Given the description of an element on the screen output the (x, y) to click on. 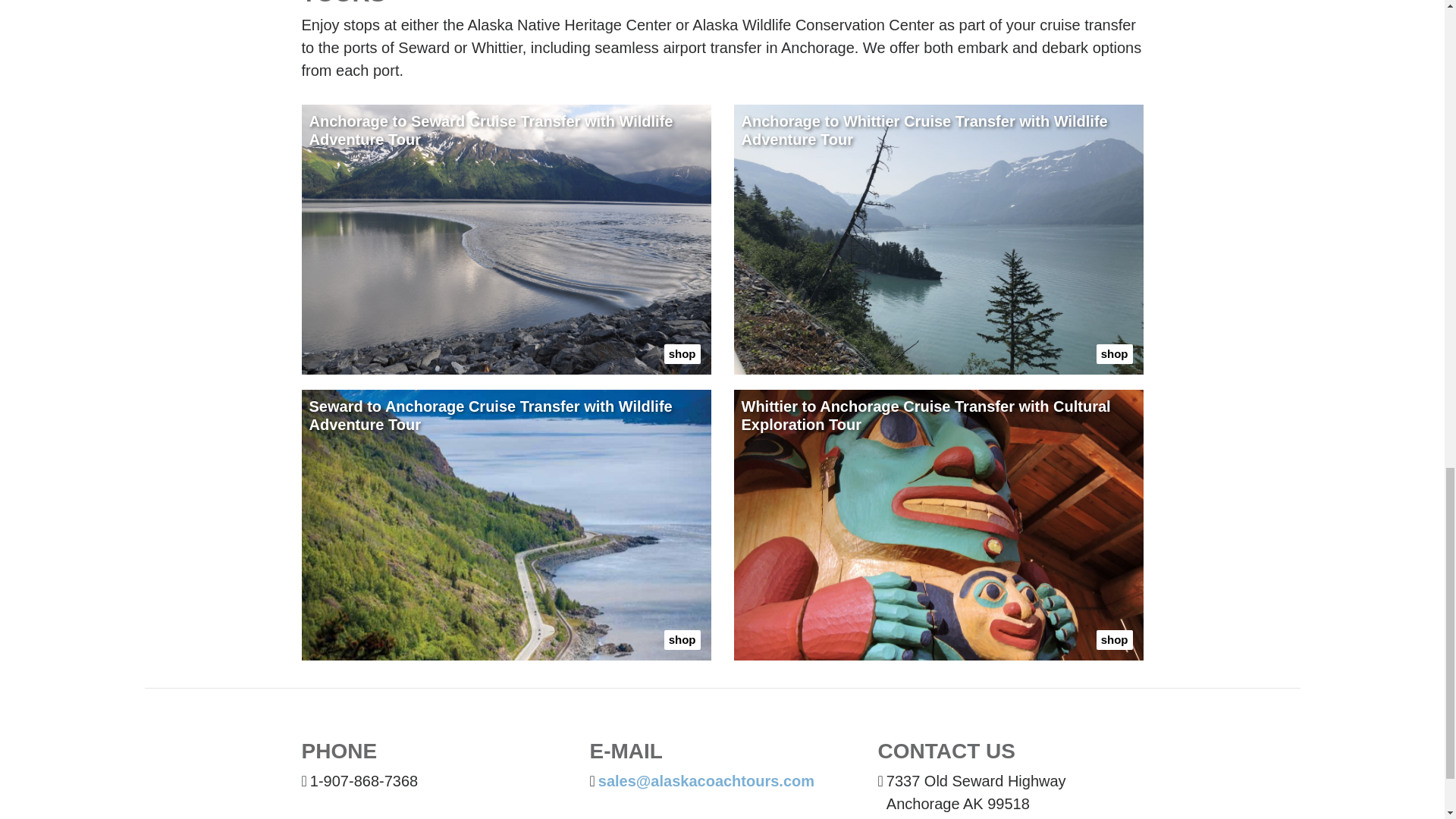
Seward to Anchorage Wildlife Adventure (506, 524)
Anchorage to Seward Wildlife Adventure (506, 239)
Whittier to Anchorage Cultural Exploration (937, 524)
Anchorage to Whittier Wildlife Adventure (937, 239)
